Given the description of an element on the screen output the (x, y) to click on. 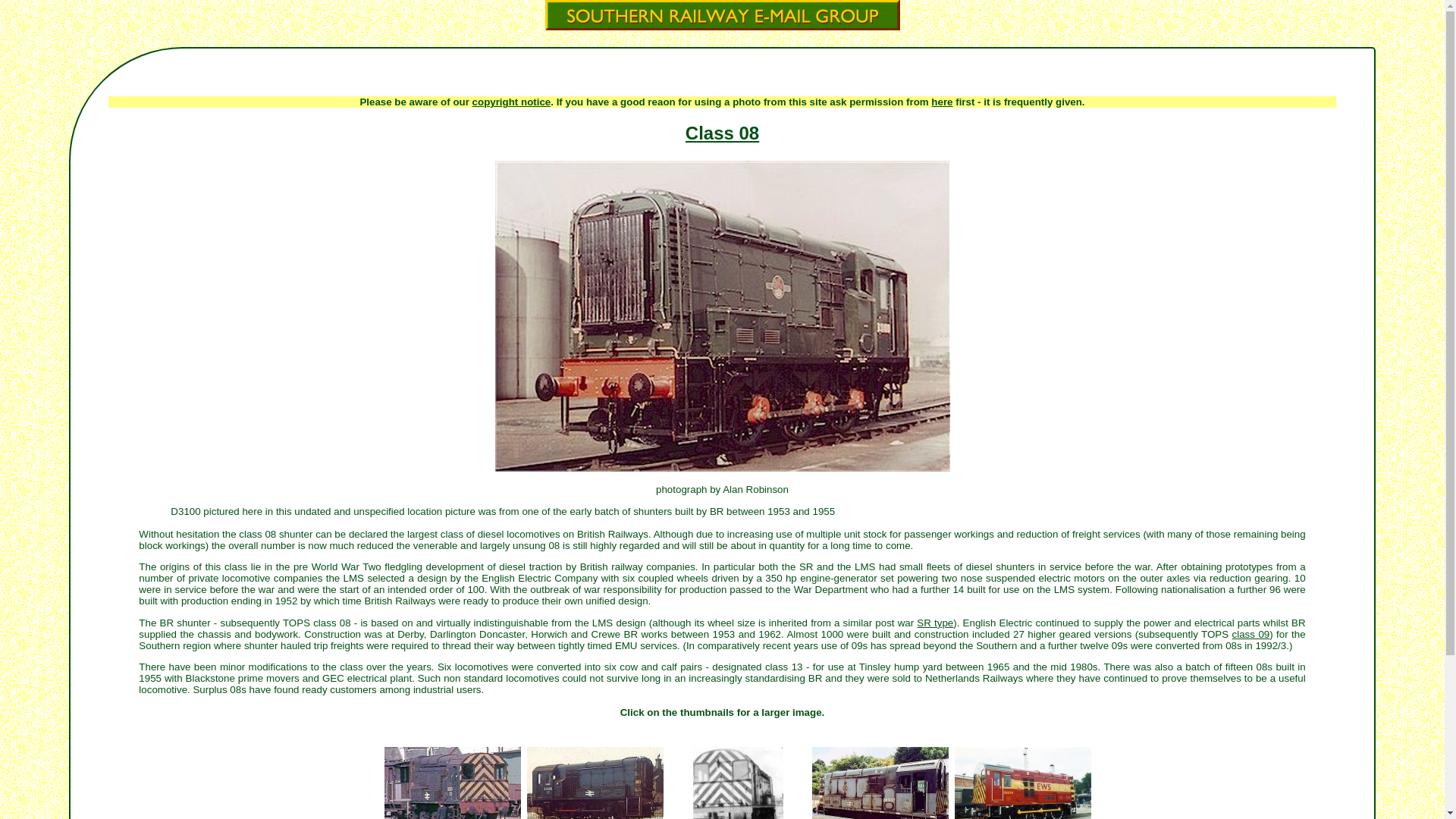
SR type (935, 622)
Click to enlarge (879, 782)
class 09 (1250, 633)
Click to enlarge (593, 782)
copyright notice (511, 101)
Click to enlarge (1022, 782)
Click to enlarge (451, 782)
Click to enlarge (736, 782)
here (941, 101)
